Given the description of an element on the screen output the (x, y) to click on. 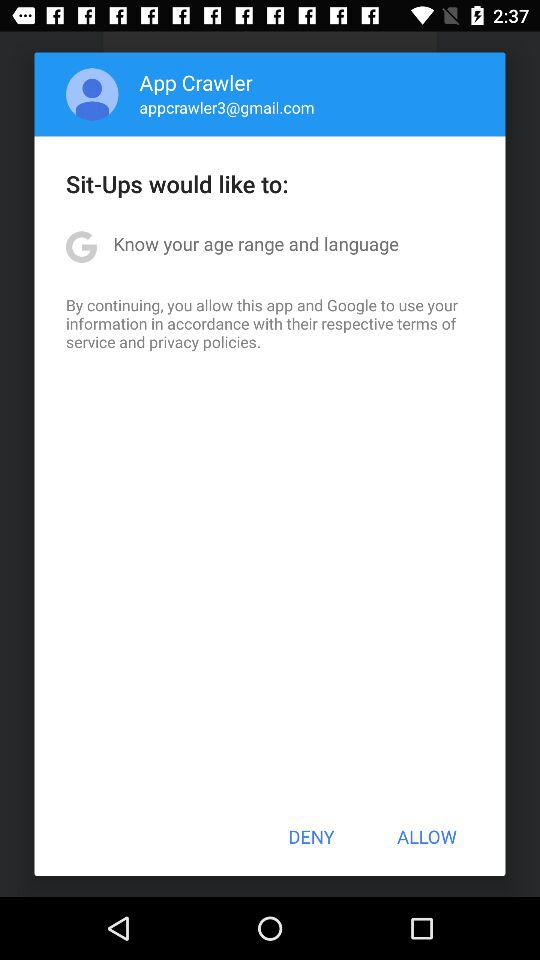
turn off the appcrawler3@gmail.com item (226, 107)
